Given the description of an element on the screen output the (x, y) to click on. 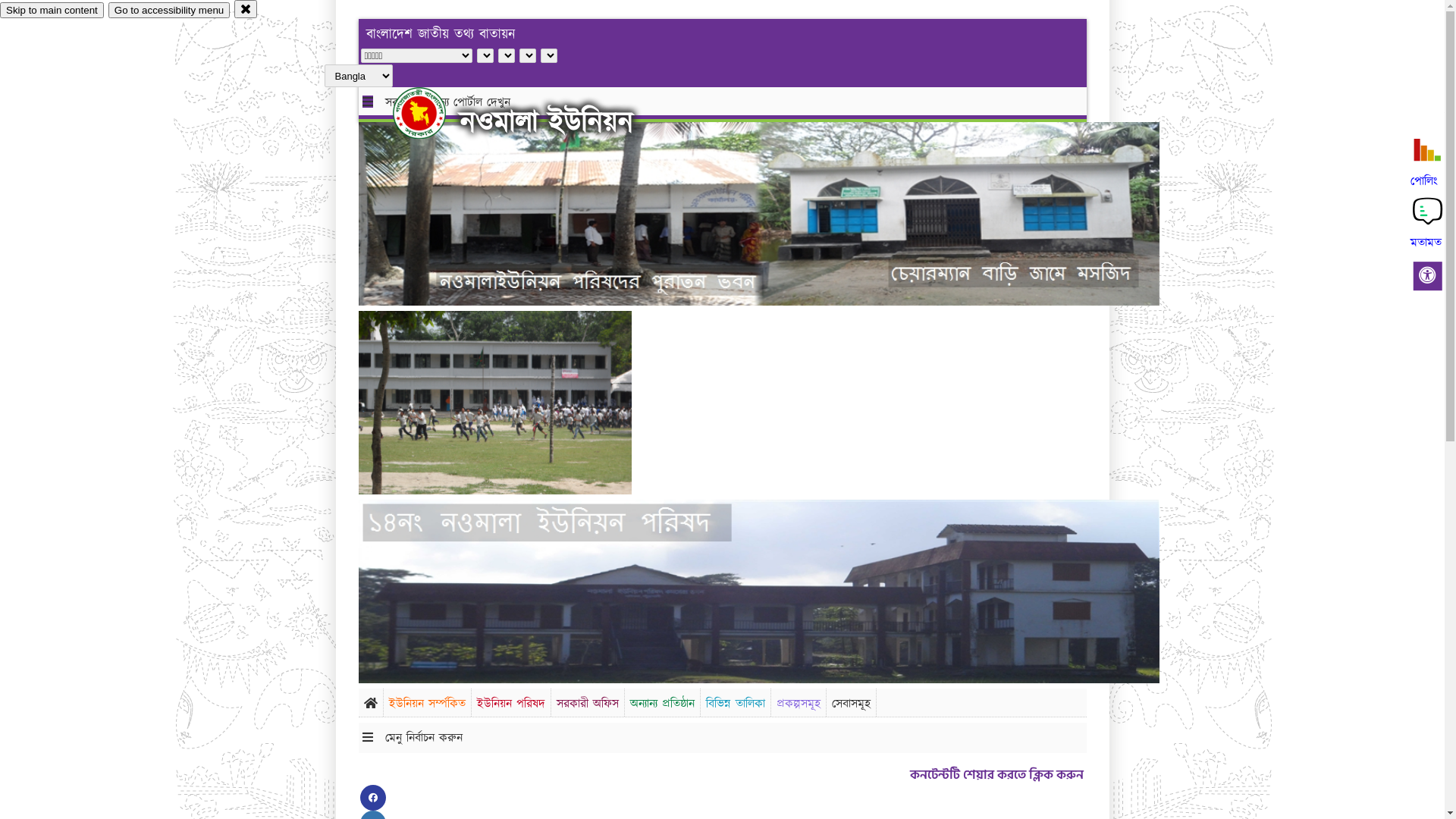
close Element type: hover (245, 9)
Skip to main content Element type: text (51, 10)
Go to accessibility menu Element type: text (168, 10)

                
             Element type: hover (431, 112)
